Given the description of an element on the screen output the (x, y) to click on. 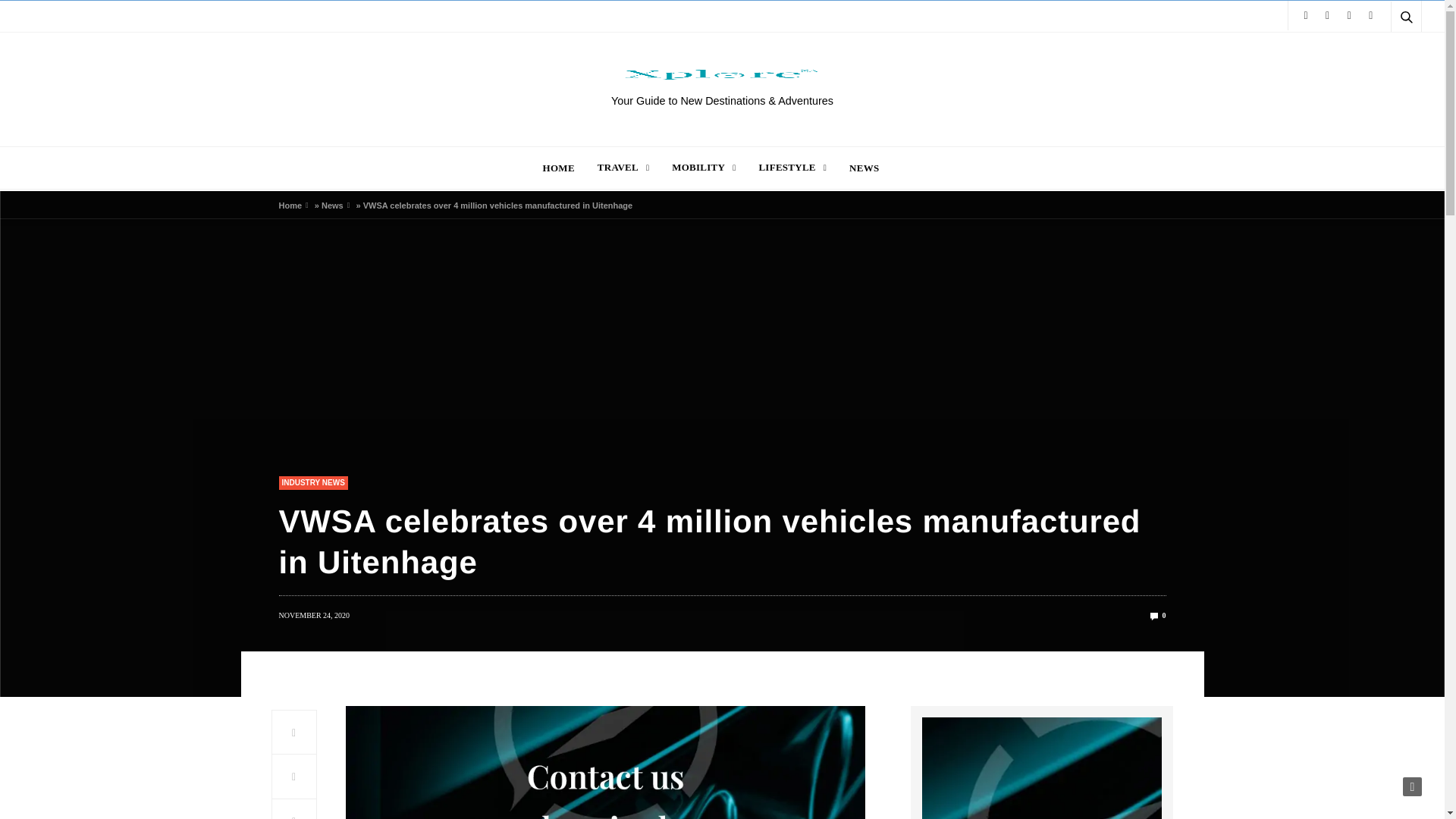
INDUSTRY NEWS (313, 482)
NEWS (863, 167)
MOBILITY (703, 167)
Search (1386, 53)
LIFESTYLE (792, 167)
0 (1158, 614)
News (332, 204)
Home (290, 204)
Industry News (313, 482)
TRAVEL (622, 167)
HOME (559, 167)
